Given the description of an element on the screen output the (x, y) to click on. 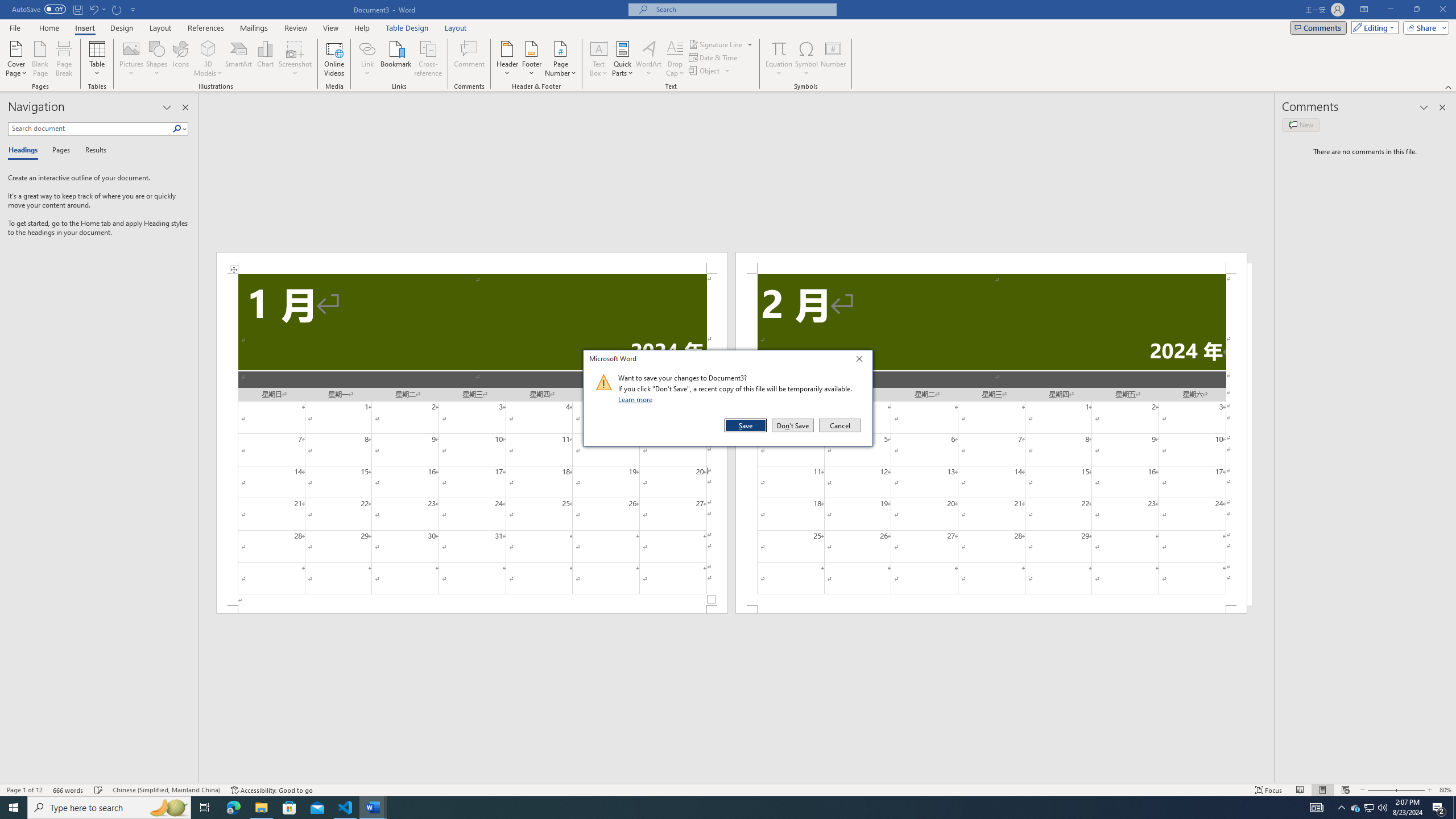
Learn more (636, 399)
Footer -Section 2- (991, 609)
Icons (180, 58)
Undo Increase Indent (96, 9)
Class: NetUIScrollBar (736, 778)
AutoSave (38, 9)
Print Layout (1322, 790)
System (6, 6)
Home (48, 28)
Cross-reference... (428, 58)
Headings (25, 150)
Symbol (806, 58)
Undo Increase Indent (92, 9)
AutomationID: 4105 (1316, 807)
